Given the description of an element on the screen output the (x, y) to click on. 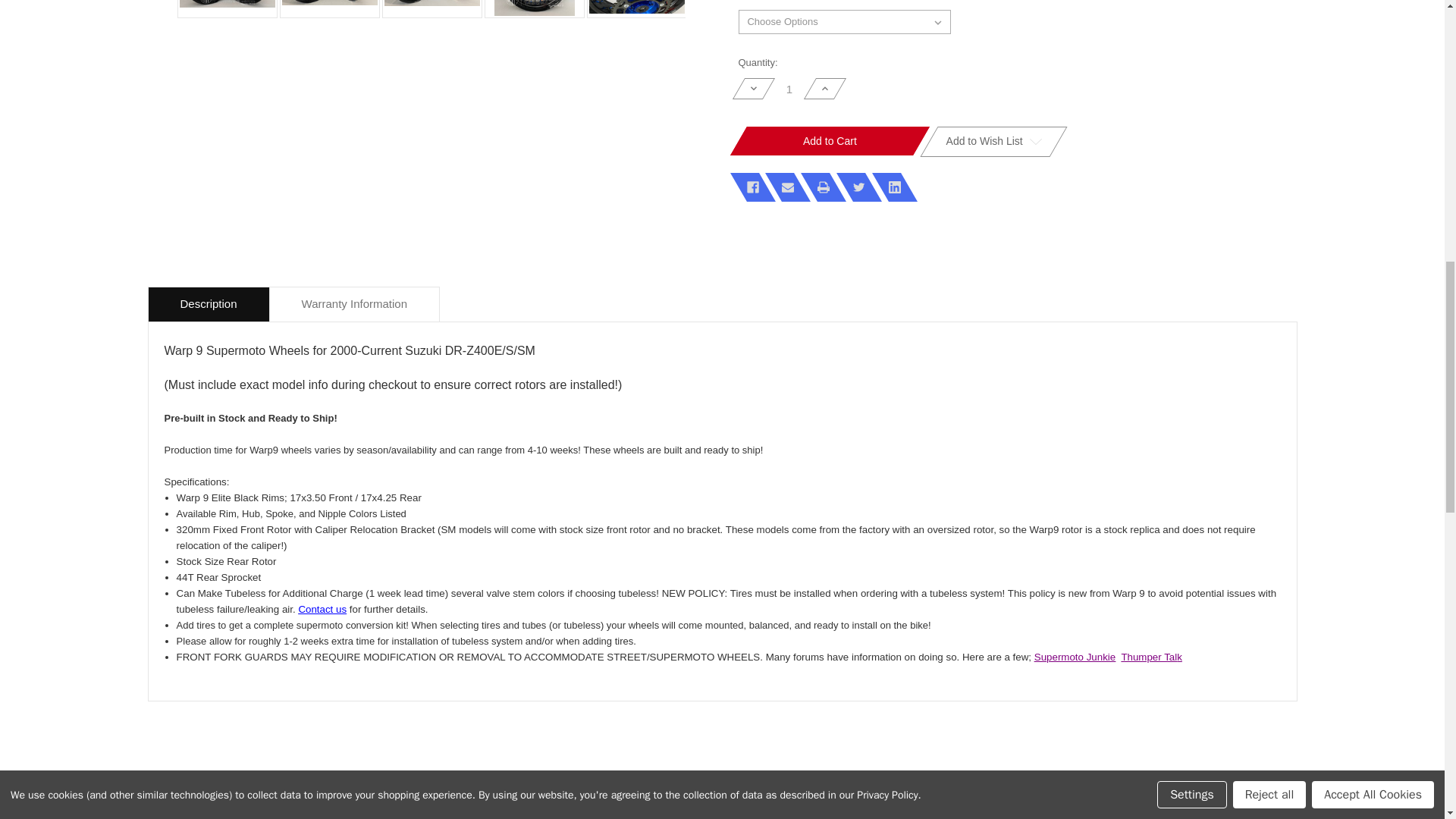
1 (788, 88)
